Given the description of an element on the screen output the (x, y) to click on. 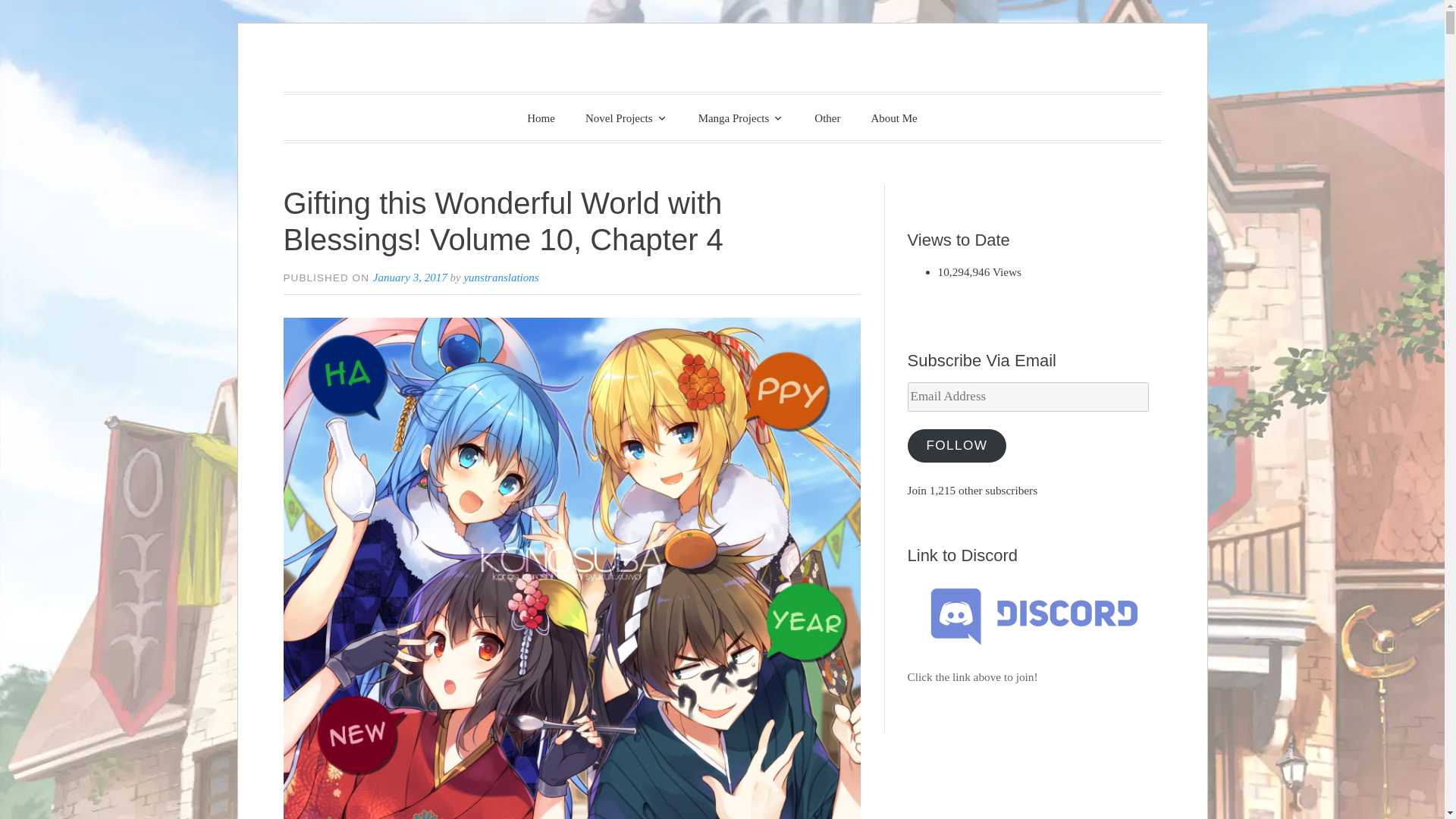
Manga Projects (740, 117)
Novel Projects (626, 117)
About Me (894, 118)
yunstranslations (500, 277)
Other (827, 118)
January 3, 2017 (409, 277)
Home (541, 118)
